Given the description of an element on the screen output the (x, y) to click on. 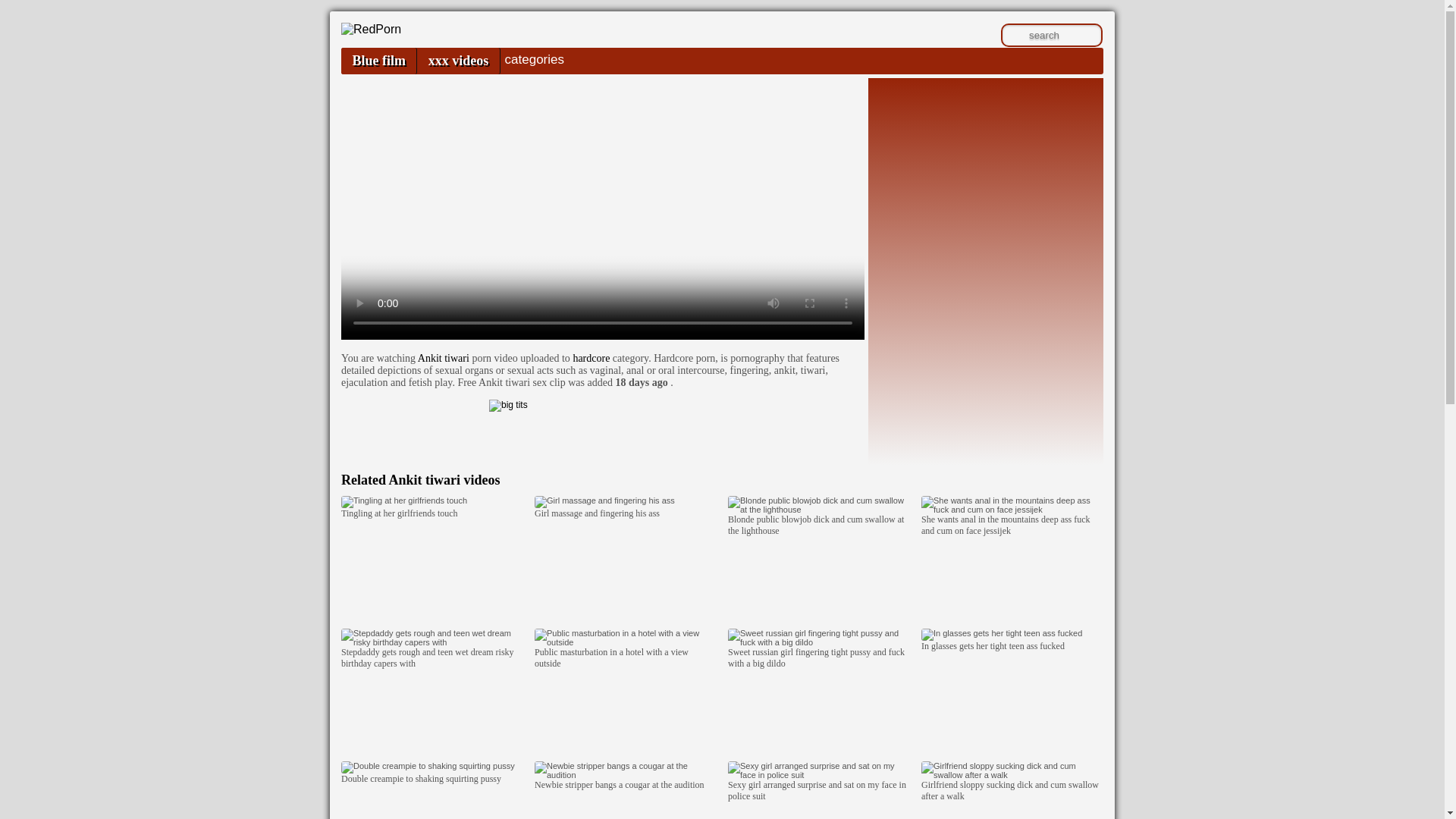
Ankit tiwari (442, 357)
xxx videos (457, 60)
xxx videos (457, 60)
Ankit tiwari videos (443, 479)
hardcore (591, 357)
Blue film (378, 60)
categories (533, 59)
Indian Porn (370, 29)
Blue film (378, 60)
